Given the description of an element on the screen output the (x, y) to click on. 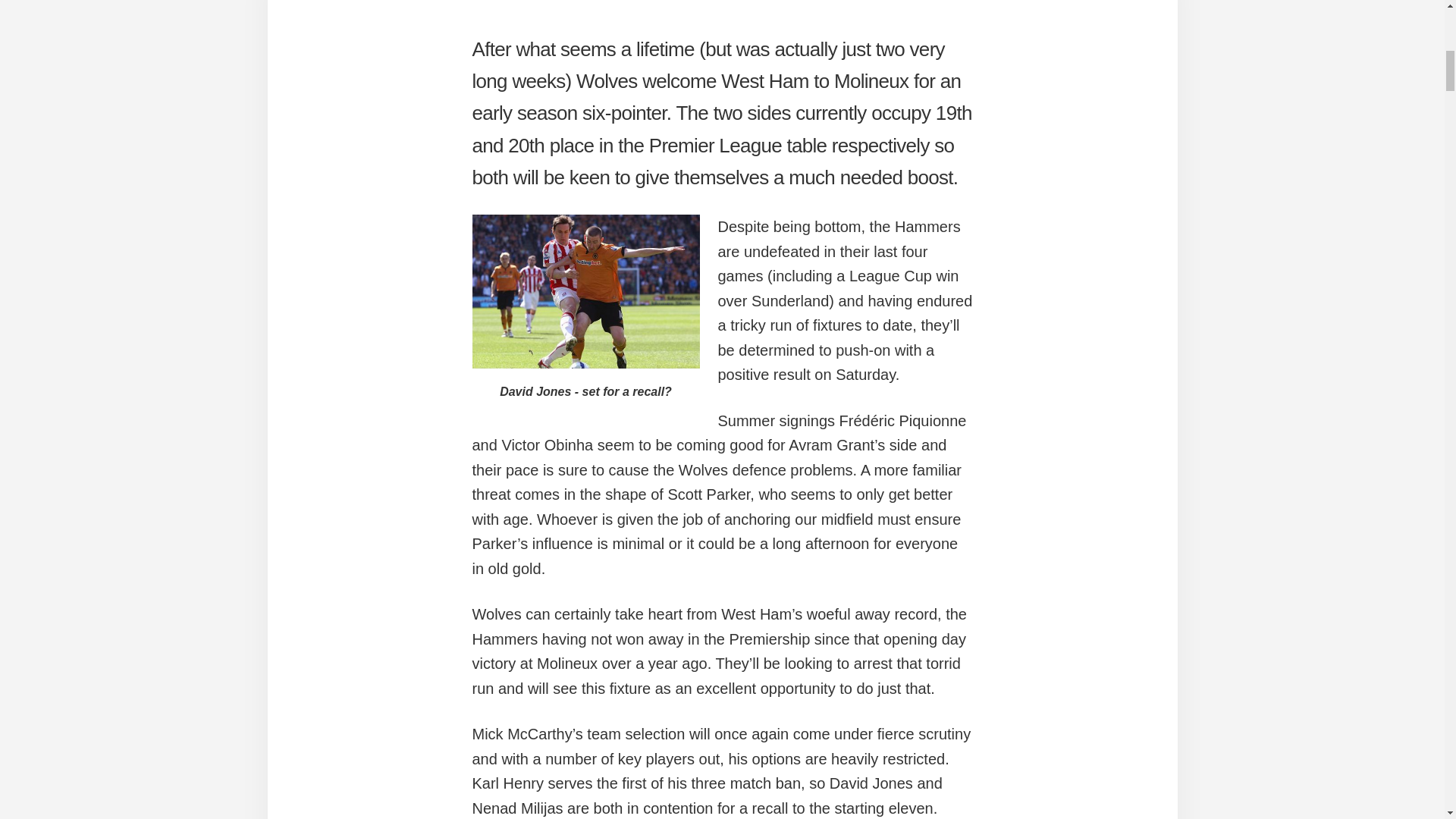
David Jones (584, 291)
